Given the description of an element on the screen output the (x, y) to click on. 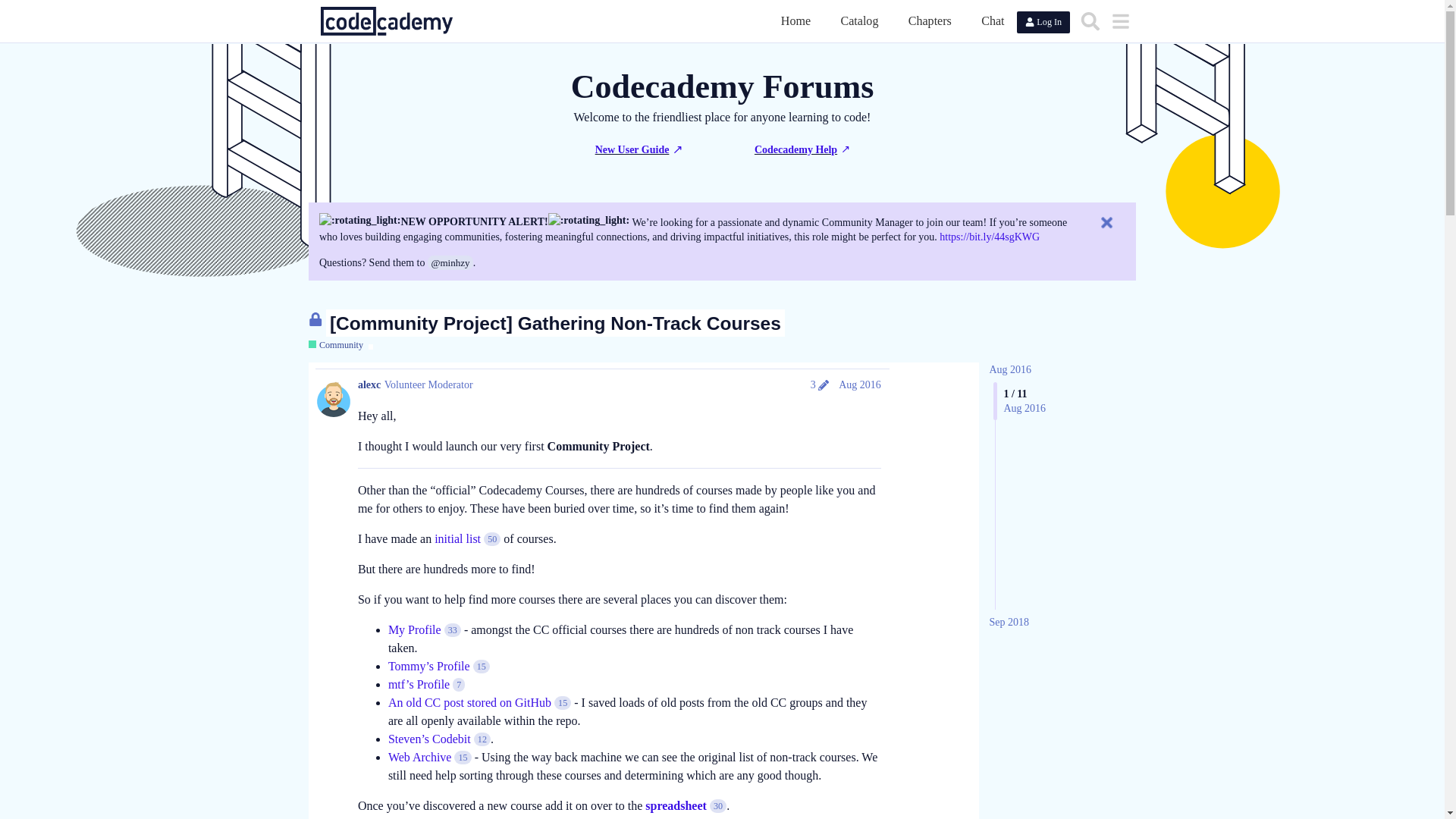
Forum Home (795, 20)
Home (795, 20)
Chat (992, 20)
An old CC post stored on GitHub 15 (479, 702)
This topic is closed; it no longer accepts new replies (314, 318)
Community (335, 345)
My Profile 33 (424, 629)
Sep 2018 (1008, 622)
Search (1090, 20)
Aug 2016 (1009, 369)
